Given the description of an element on the screen output the (x, y) to click on. 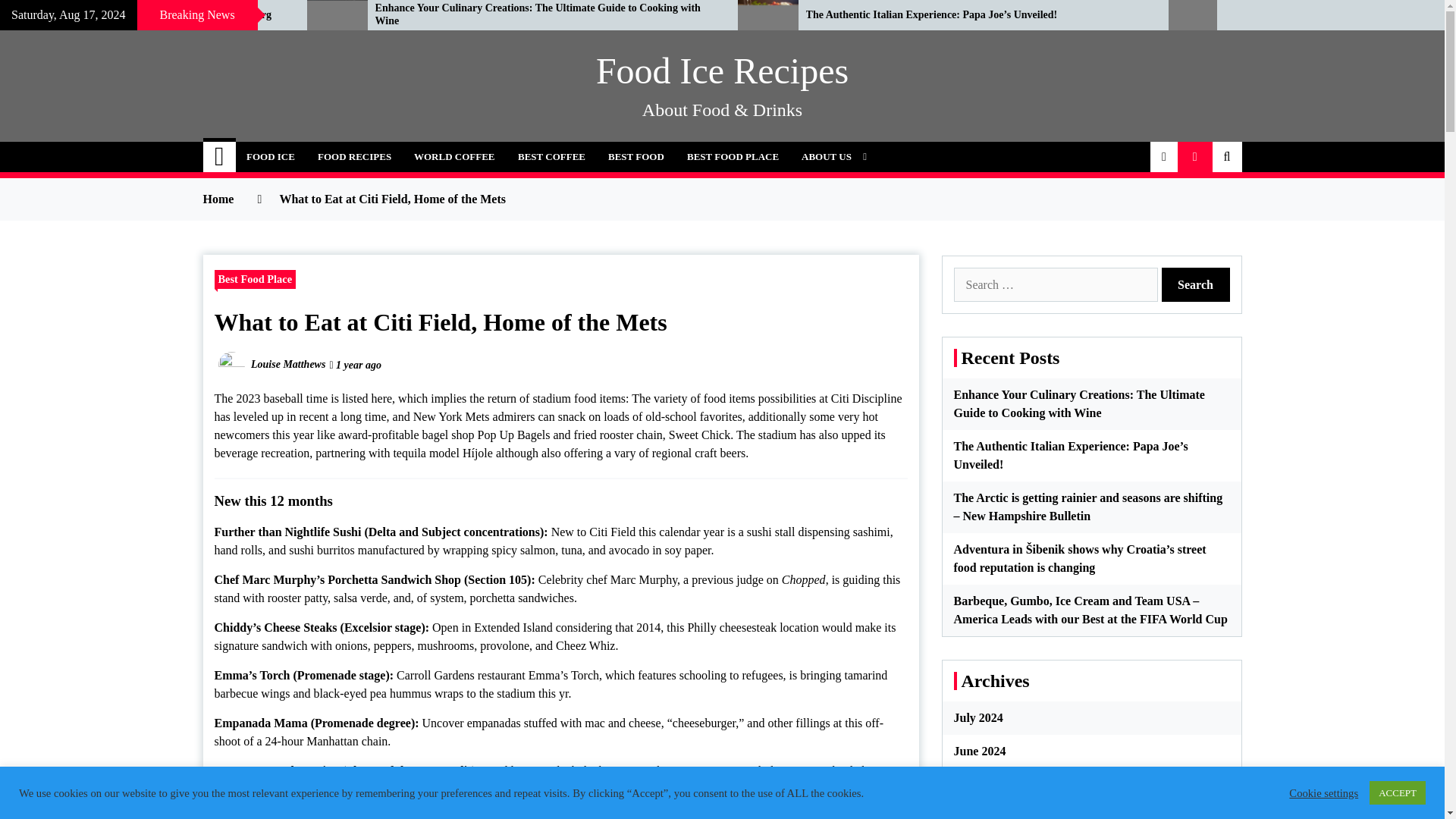
Search (1195, 284)
Search (1195, 284)
Home (219, 156)
